Given the description of an element on the screen output the (x, y) to click on. 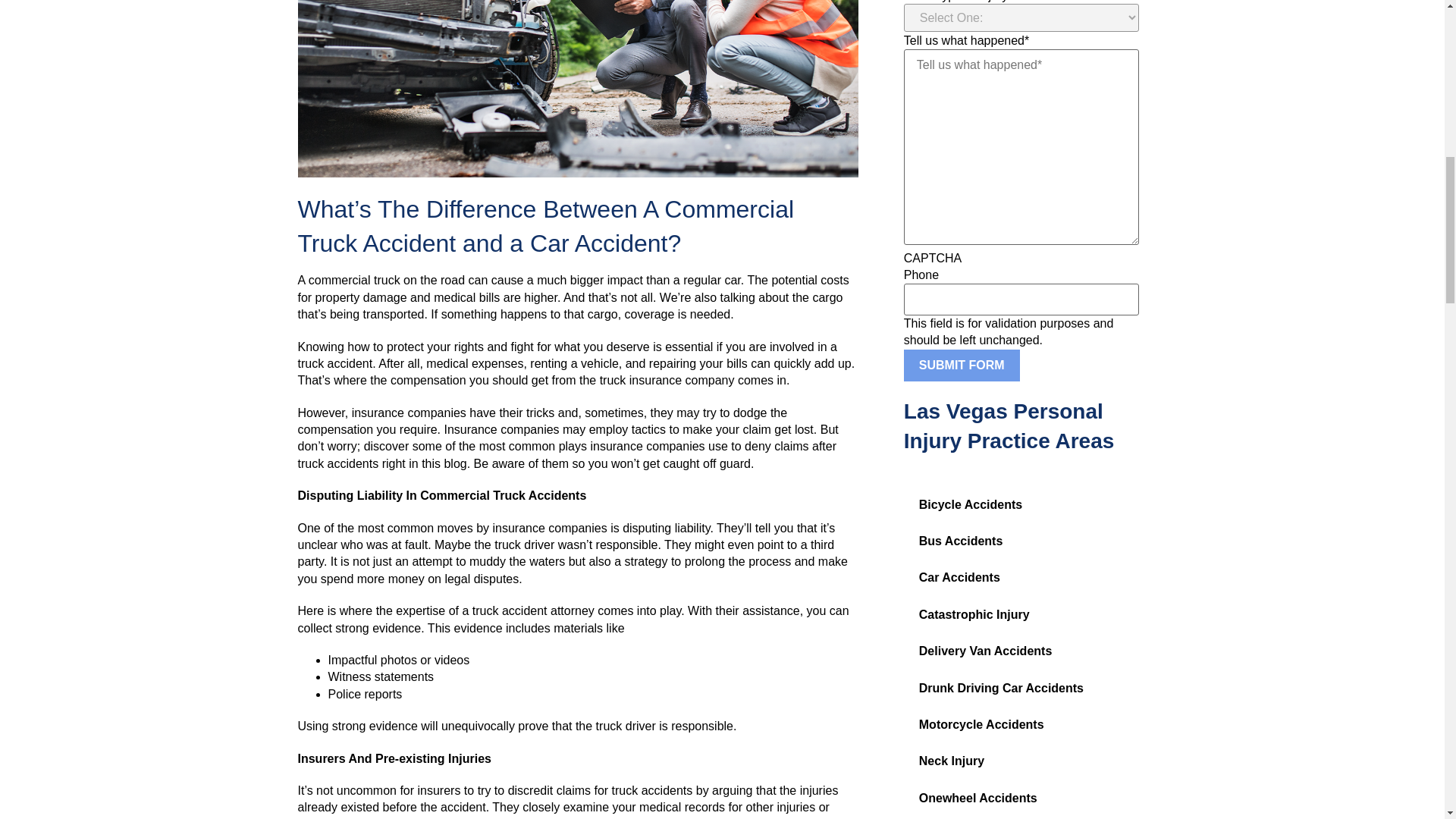
Submit Form (962, 365)
